Given the description of an element on the screen output the (x, y) to click on. 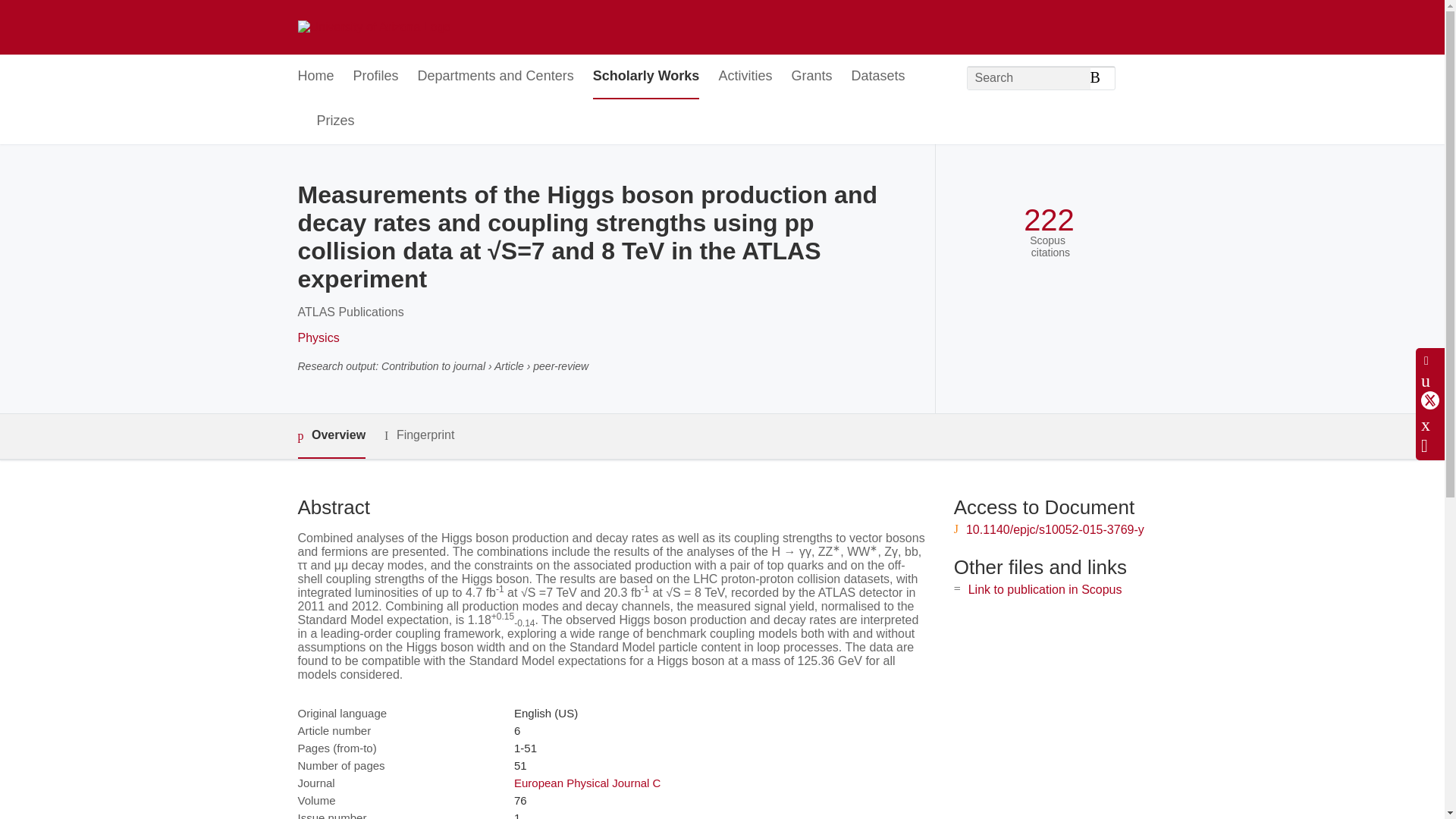
Datasets (877, 76)
Activities (744, 76)
222 (1048, 220)
Grants (810, 76)
European Physical Journal C (587, 782)
Profiles (375, 76)
Fingerprint (419, 435)
Departments and Centers (495, 76)
Link to publication in Scopus (1045, 589)
